Given the description of an element on the screen output the (x, y) to click on. 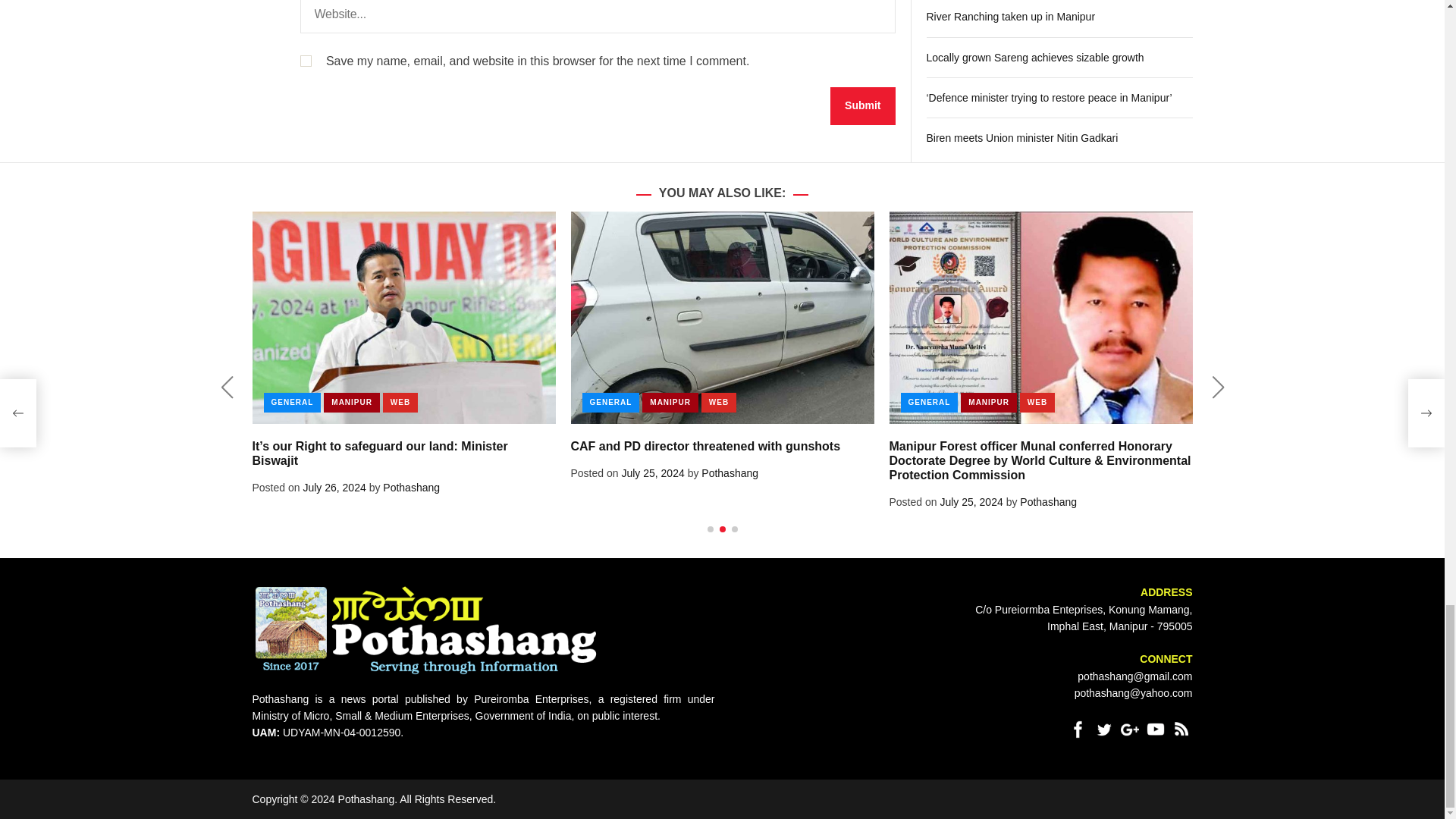
Submit (862, 105)
Submit (862, 105)
yes (305, 60)
